Given the description of an element on the screen output the (x, y) to click on. 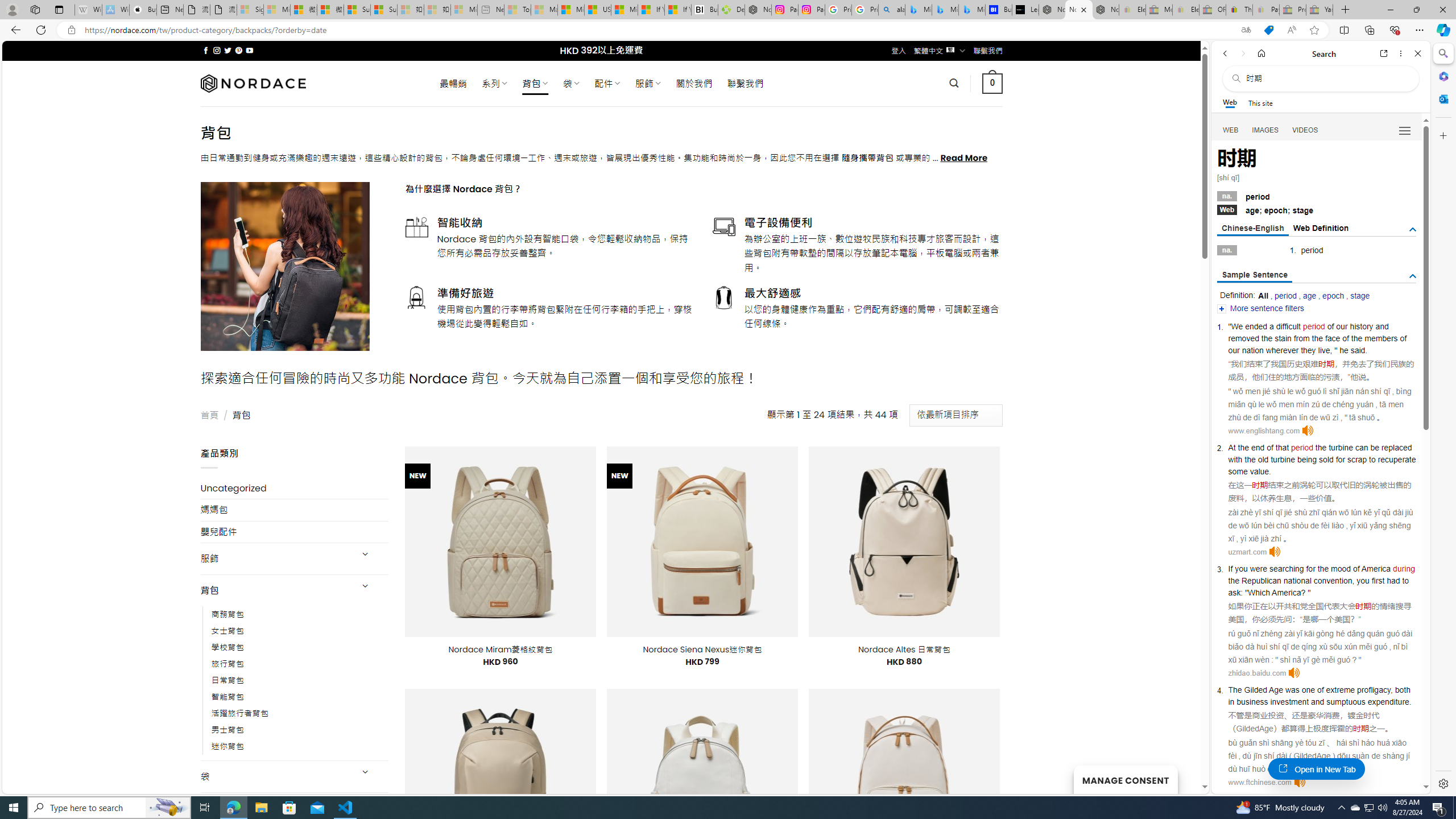
expenditure (1388, 700)
during (1404, 568)
Buy iPad - Apple (143, 9)
to (1405, 580)
" (1308, 592)
We (1236, 325)
Follow on Pinterest (237, 50)
